Given the description of an element on the screen output the (x, y) to click on. 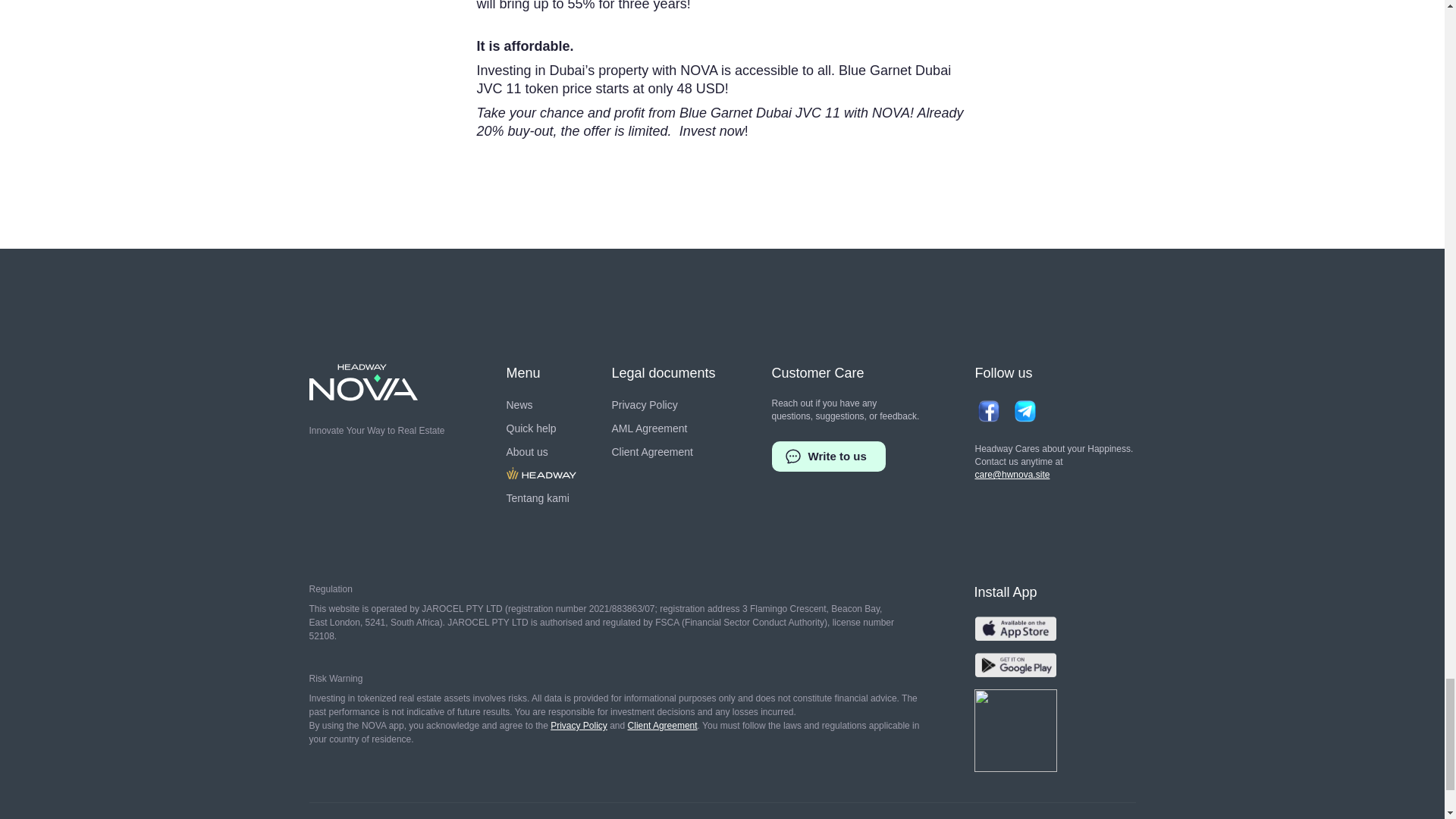
News (519, 404)
About us (527, 451)
Quick help (531, 428)
Redirect (541, 474)
Privacy Policy (644, 404)
Write to us (828, 456)
Tentang kami (537, 497)
Privacy Policy (578, 725)
Client Agreement (662, 725)
Client Agreement (652, 451)
AML Agreement (649, 428)
